Given the description of an element on the screen output the (x, y) to click on. 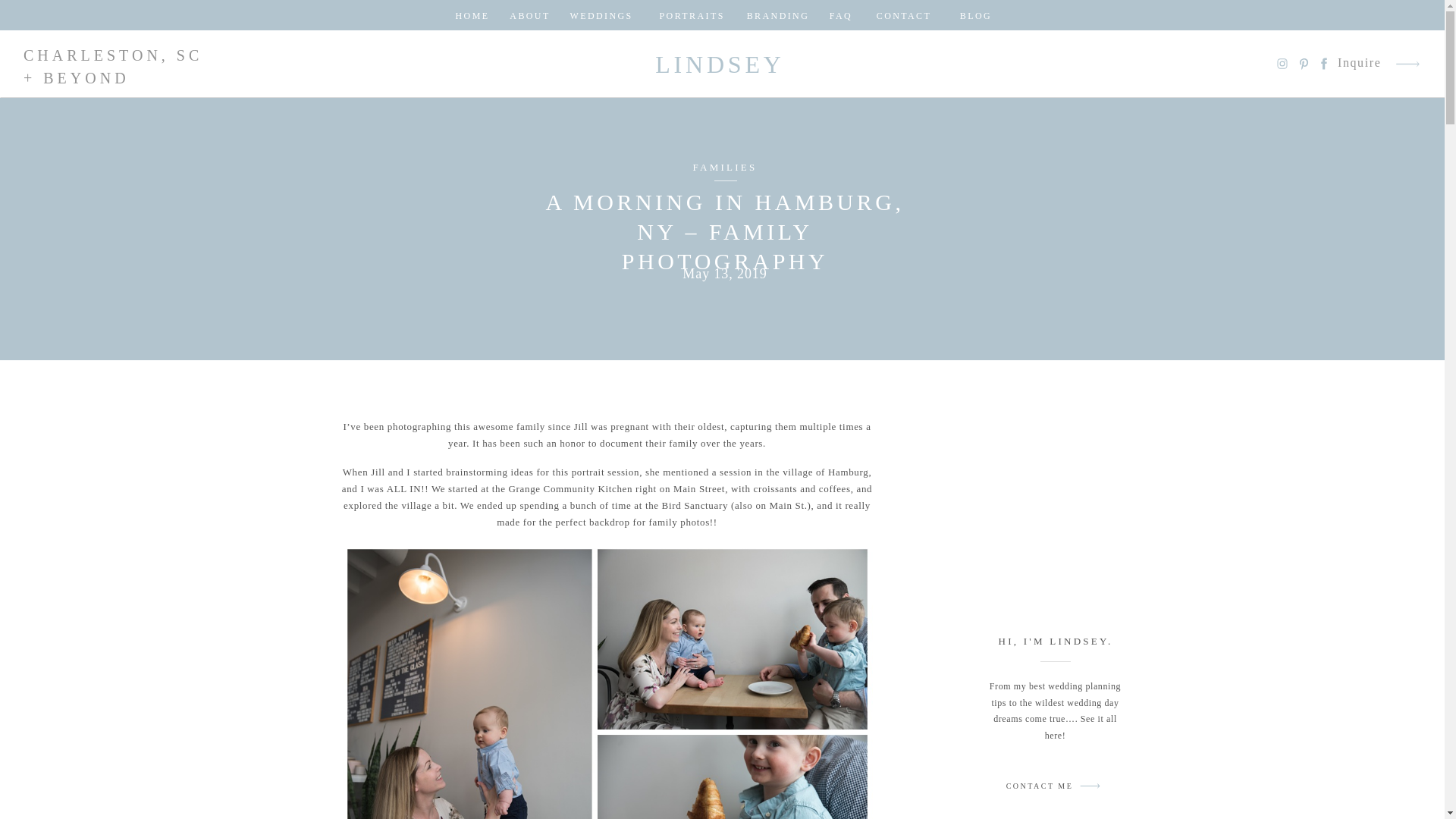
CONTACT ME (1039, 787)
BRANDING (777, 15)
WEDDINGS (601, 15)
HOME (472, 15)
arrow (1407, 63)
arrow (1407, 63)
LINDSEY ROBINSON (720, 64)
Inquire  (1360, 64)
FAQ (840, 15)
PORTRAITS (690, 15)
